Given the description of an element on the screen output the (x, y) to click on. 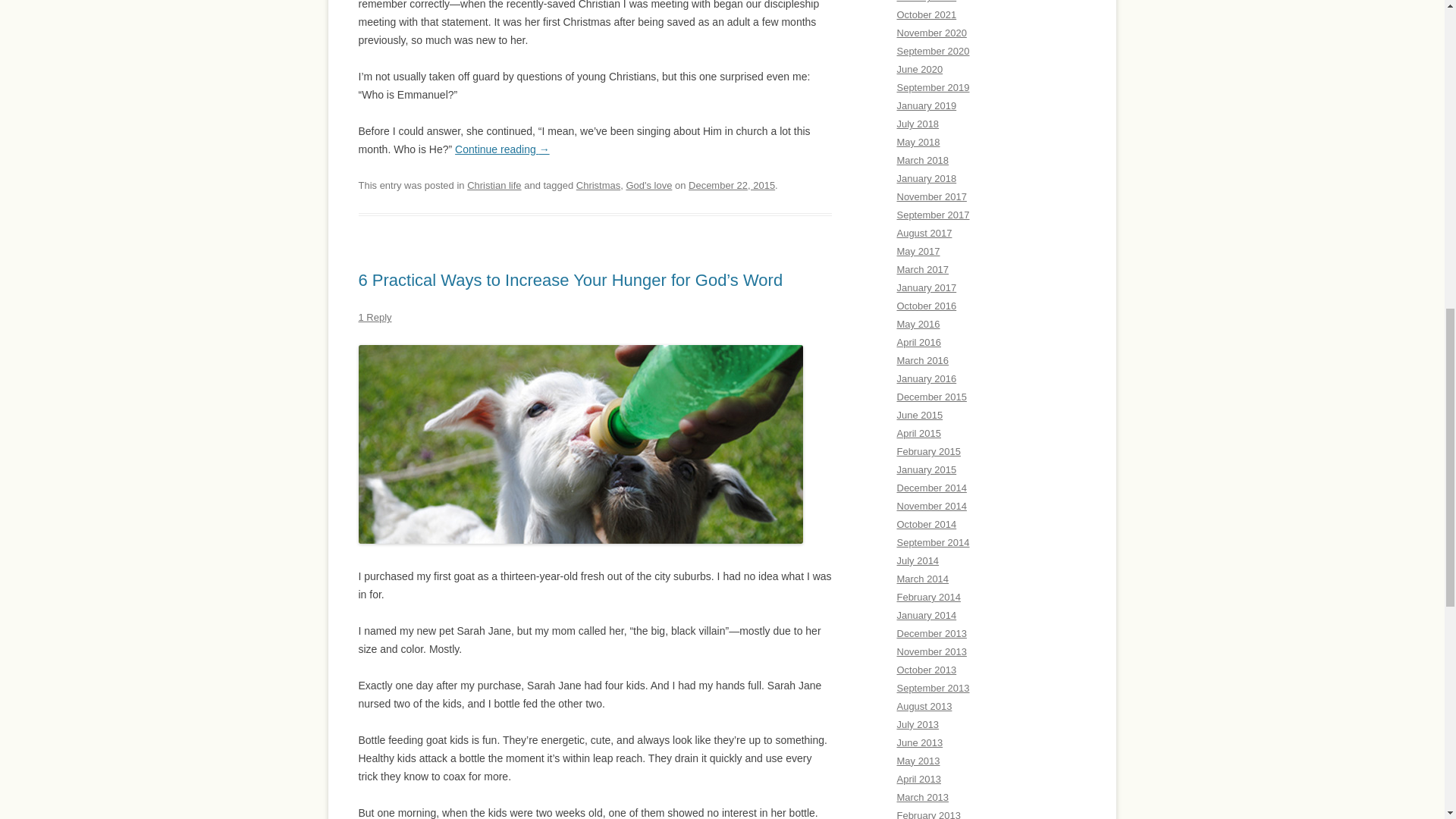
September 2019 (932, 87)
December 22, 2015 (731, 184)
September 2020 (932, 50)
Christian life (494, 184)
1 Reply (374, 317)
January 2019 (926, 105)
God's love (648, 184)
November 2020 (931, 32)
October 2021 (926, 14)
June 2020 (919, 69)
January 2023 (926, 1)
Christmas (598, 184)
12:33 pm (731, 184)
